Given the description of an element on the screen output the (x, y) to click on. 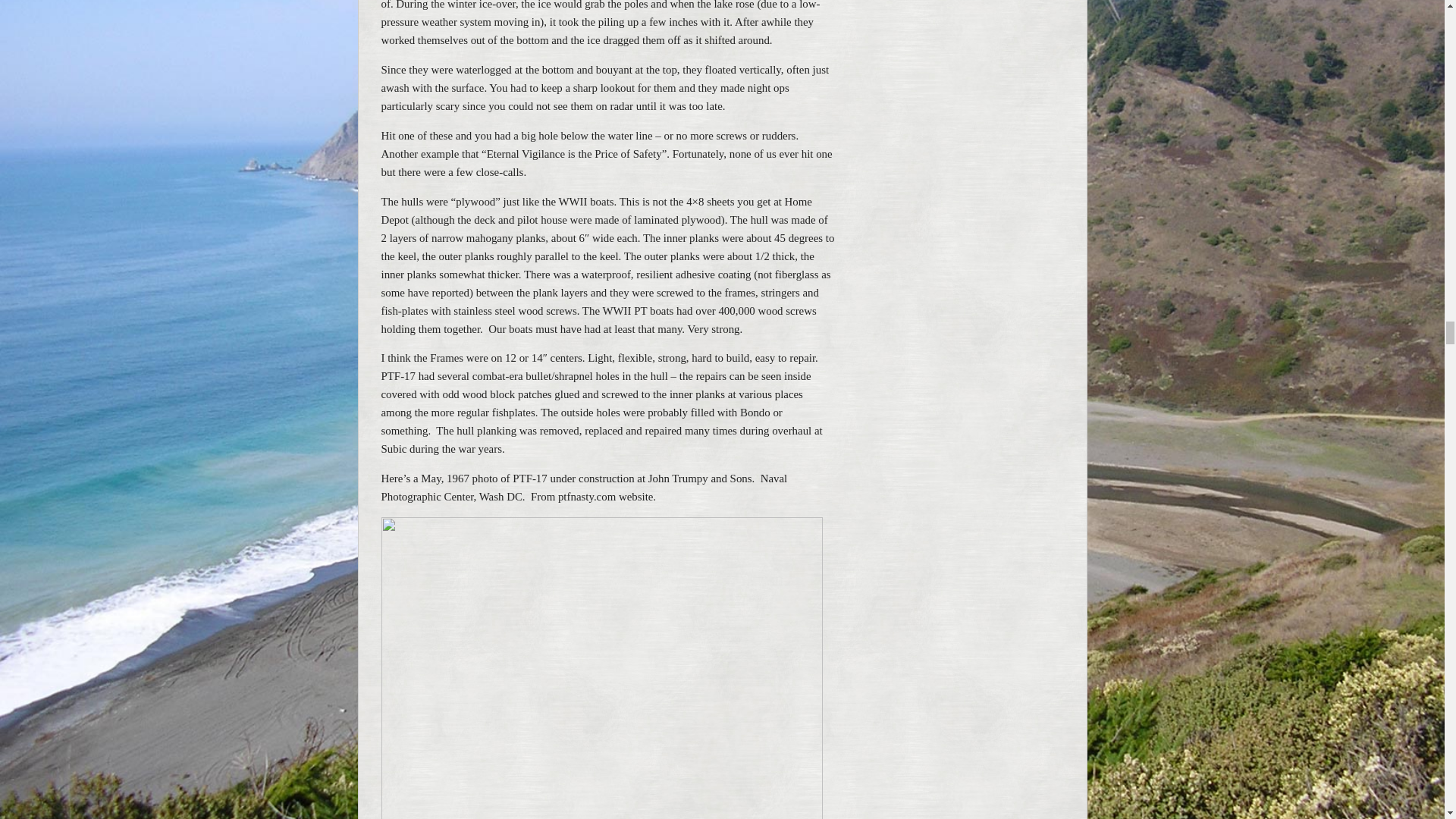
PTF-17 under construction (601, 667)
